Given the description of an element on the screen output the (x, y) to click on. 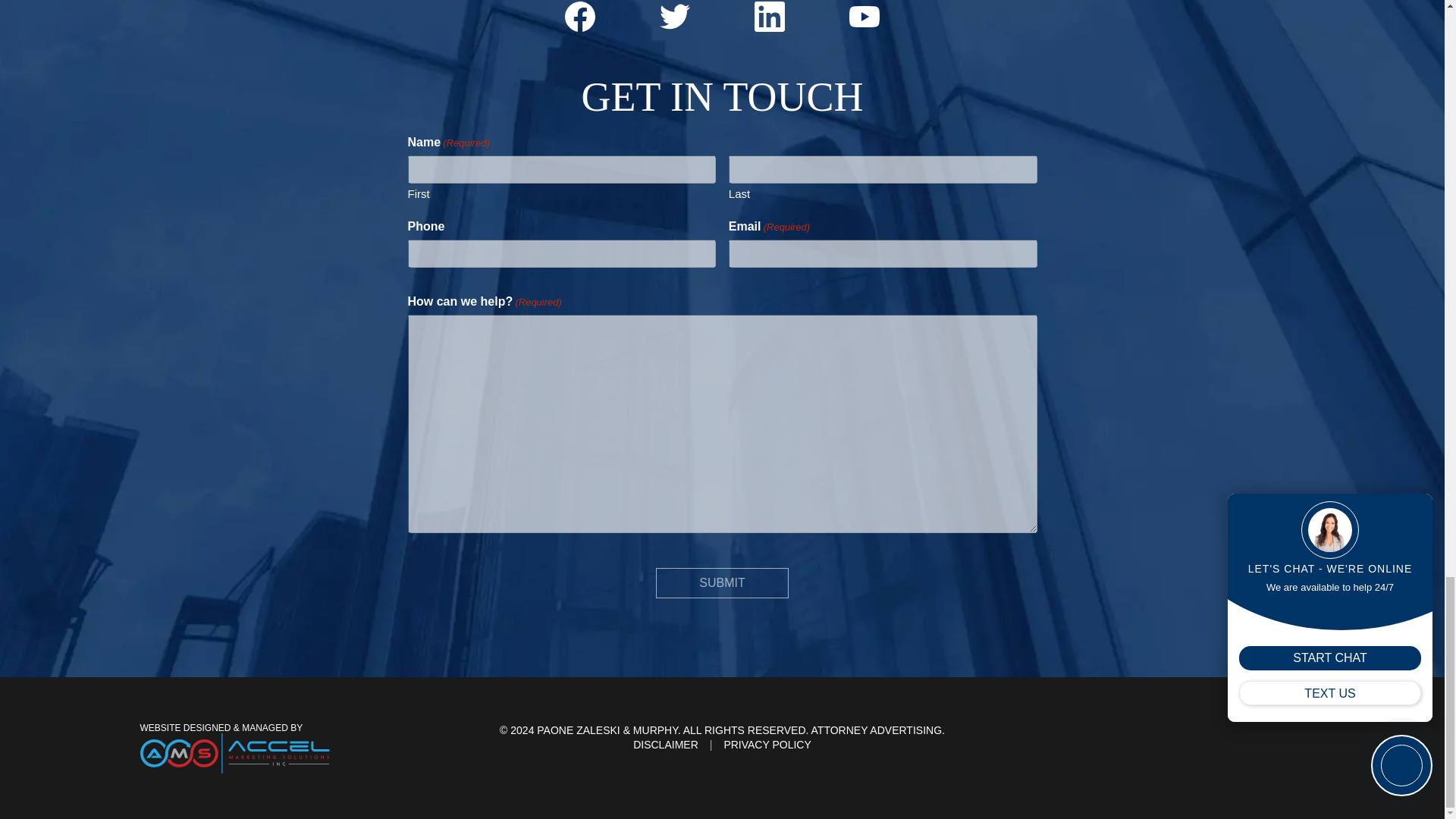
Submit (722, 583)
